Given the description of an element on the screen output the (x, y) to click on. 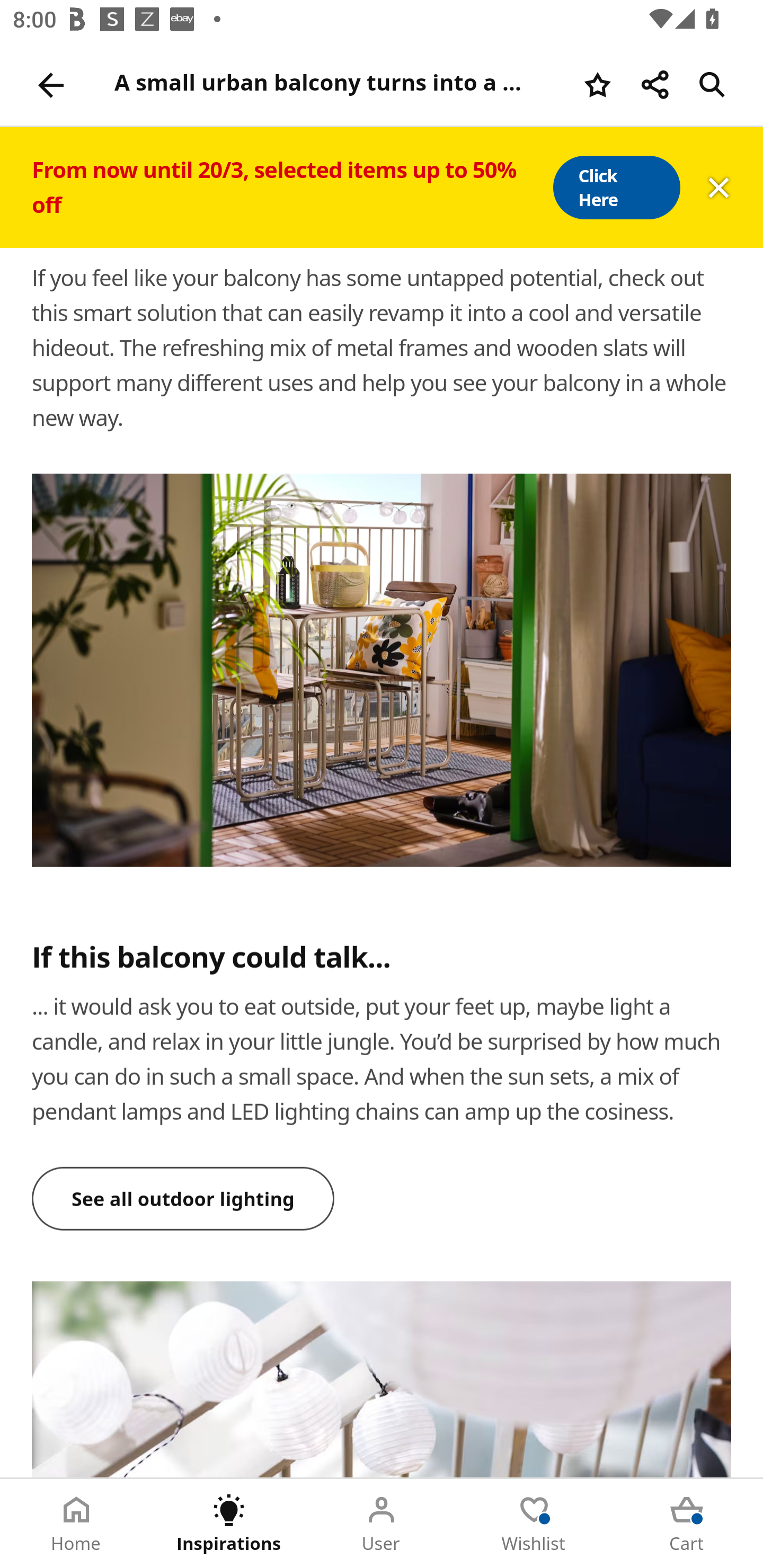
Click Here (615, 187)
See all outdoor lighting (183, 1198)
Home
Tab 1 of 5 (76, 1522)
Inspirations
Tab 2 of 5 (228, 1522)
User
Tab 3 of 5 (381, 1522)
Wishlist
Tab 4 of 5 (533, 1522)
Cart
Tab 5 of 5 (686, 1522)
